Given the description of an element on the screen output the (x, y) to click on. 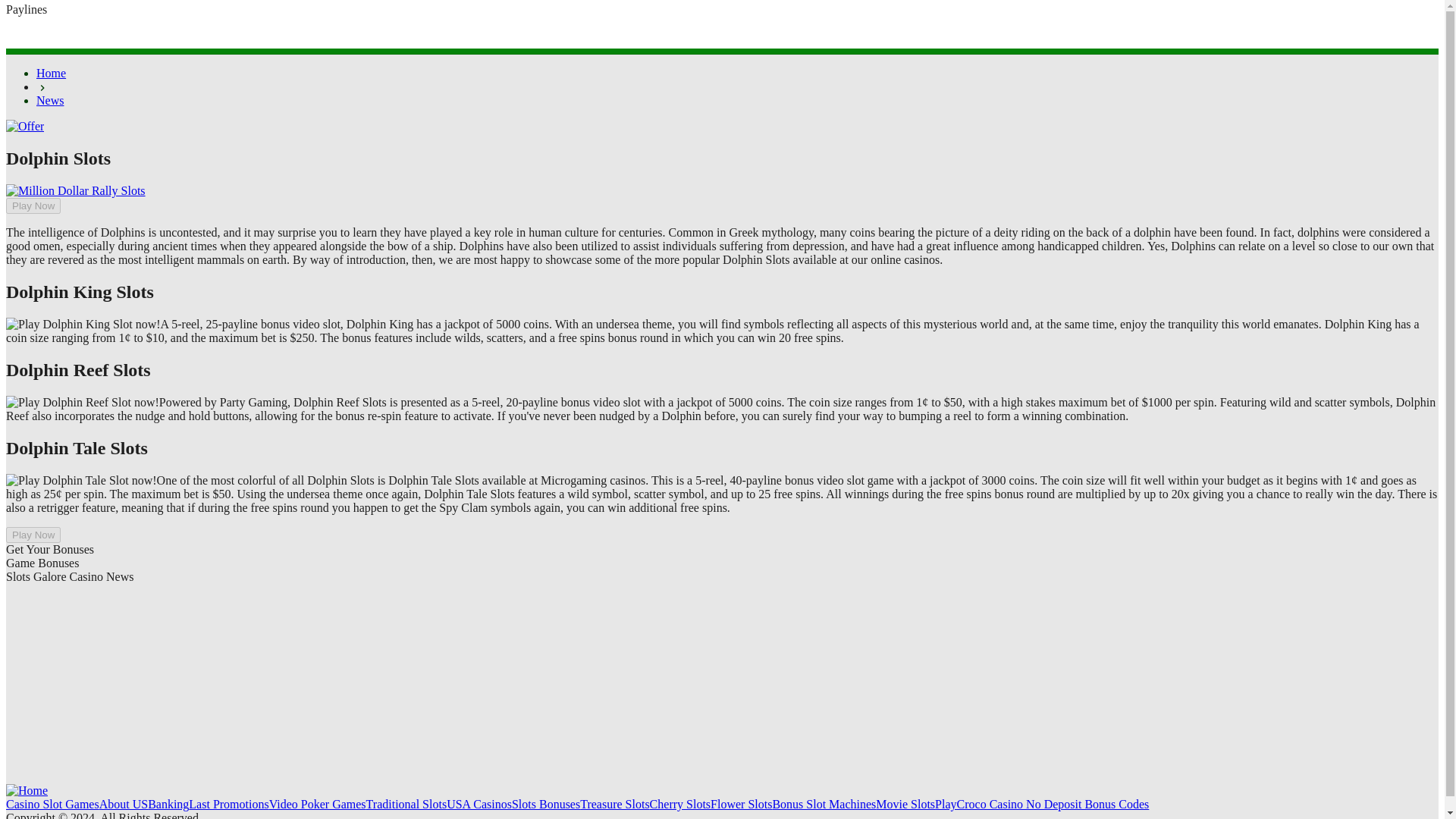
Play Now (33, 205)
Banking (168, 803)
Paylines (39, 15)
Video Poker Games (317, 803)
Treasure Slots (614, 803)
PlayCroco Casino No Deposit Bonus Codes (1041, 803)
Movie Slots (905, 803)
USA Casinos (479, 803)
About US (123, 803)
Casino Slot Games (52, 803)
